Given the description of an element on the screen output the (x, y) to click on. 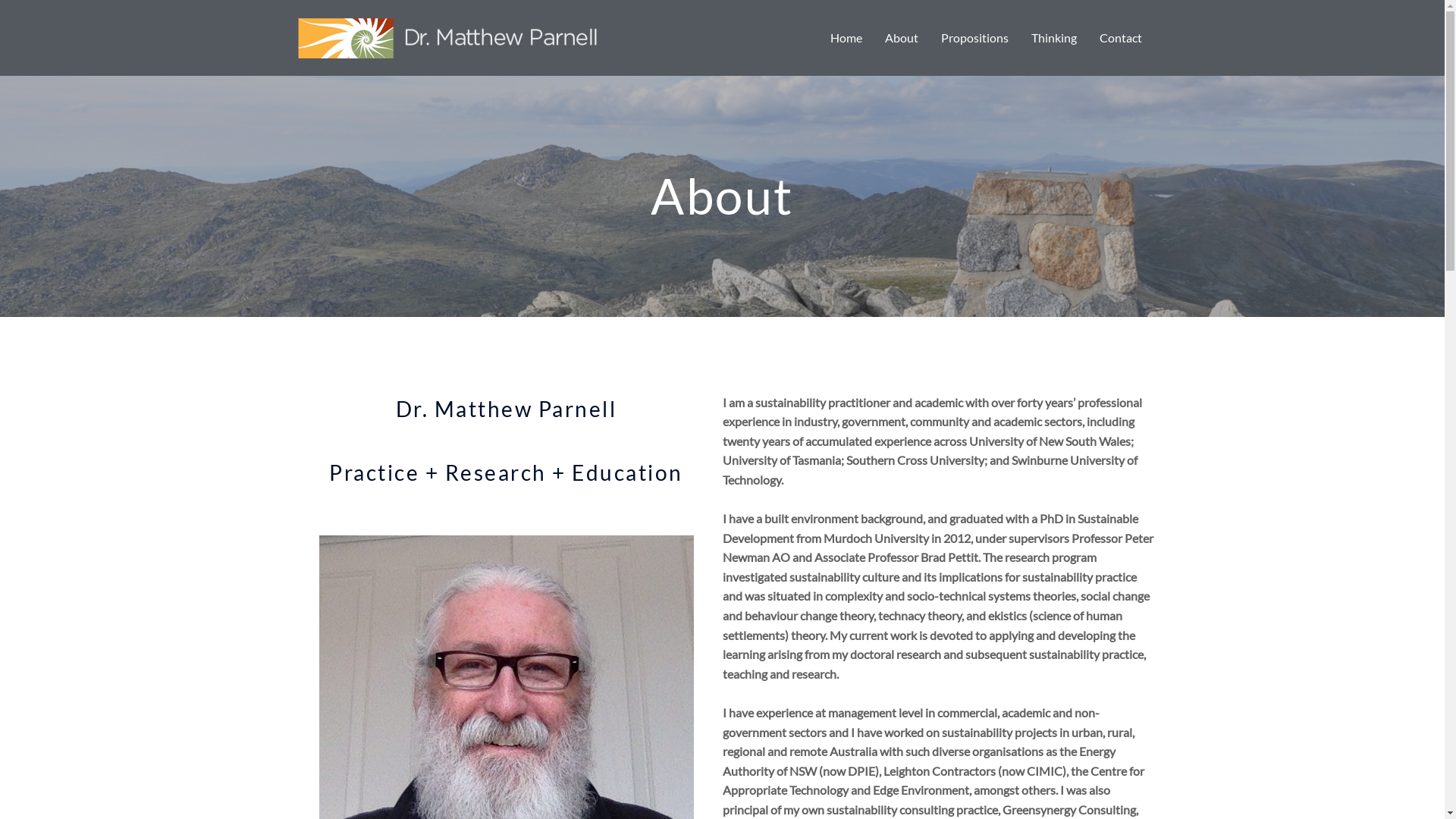
Home Element type: text (846, 37)
About Element type: text (901, 37)
Thinking Element type: text (1053, 37)
Propositions Element type: text (974, 37)
Contact Element type: text (1119, 37)
